Given the description of an element on the screen output the (x, y) to click on. 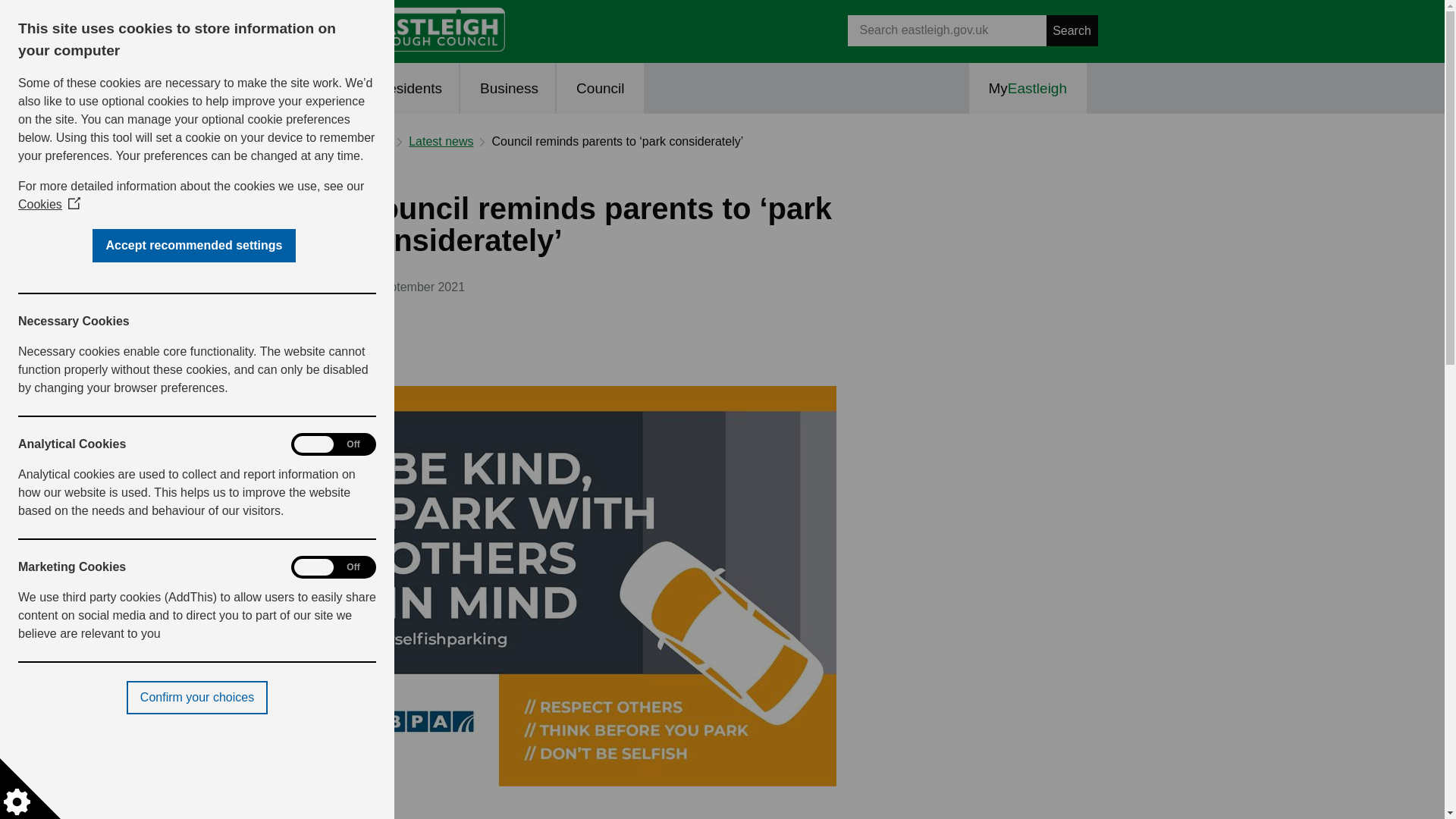
Go to the Eastleigh.gov.uk homepage (431, 29)
Open cookie preferences (30, 788)
Latest news (441, 141)
Council (598, 88)
Search (1071, 30)
Business (507, 88)
Search (1071, 30)
Search (946, 30)
My Eastleigh (1028, 88)
MyEastleigh (1028, 88)
